Given the description of an element on the screen output the (x, y) to click on. 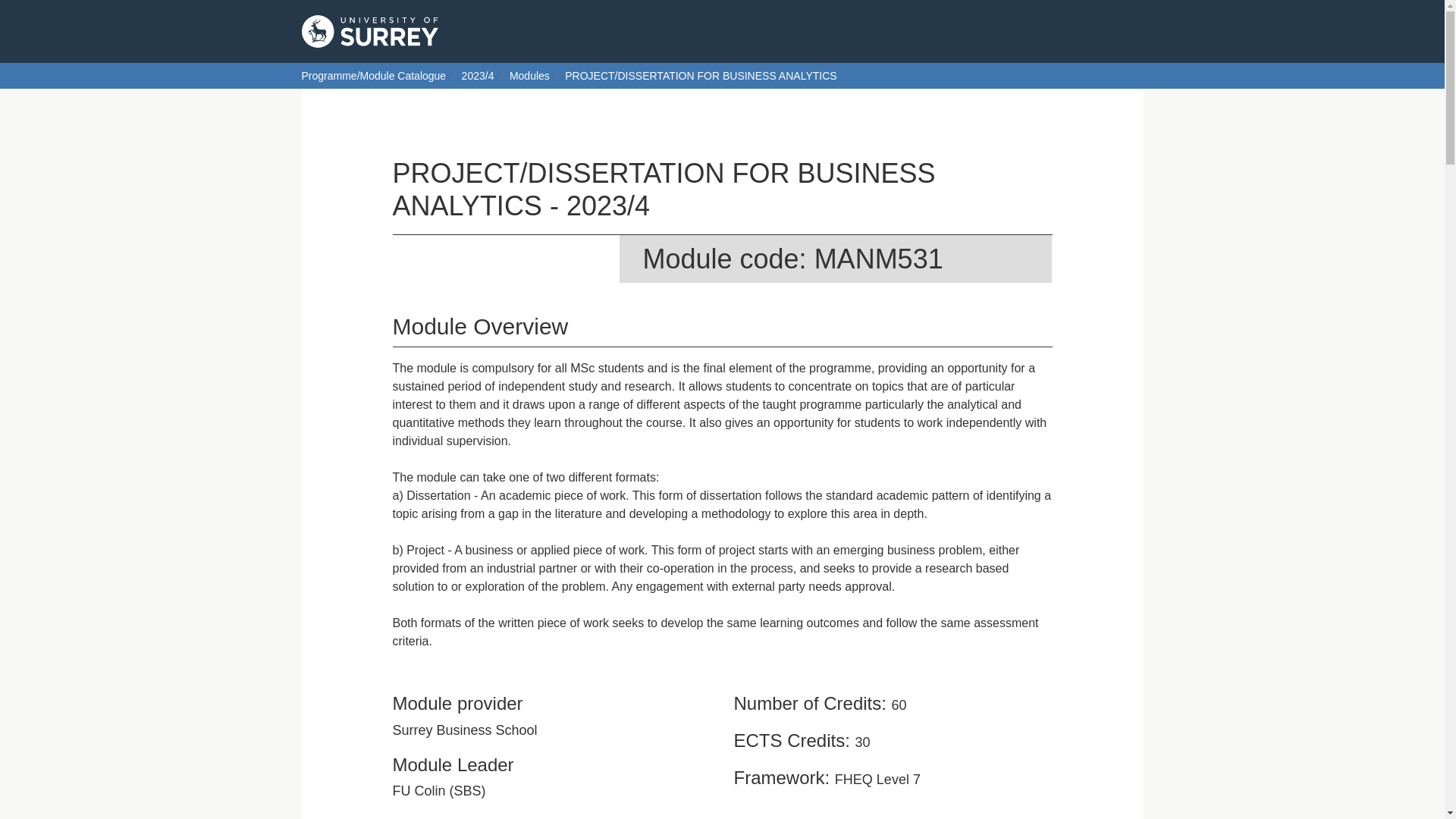
Surrey University, Module Catalogue Homepage (369, 31)
Modules (529, 75)
